Given the description of an element on the screen output the (x, y) to click on. 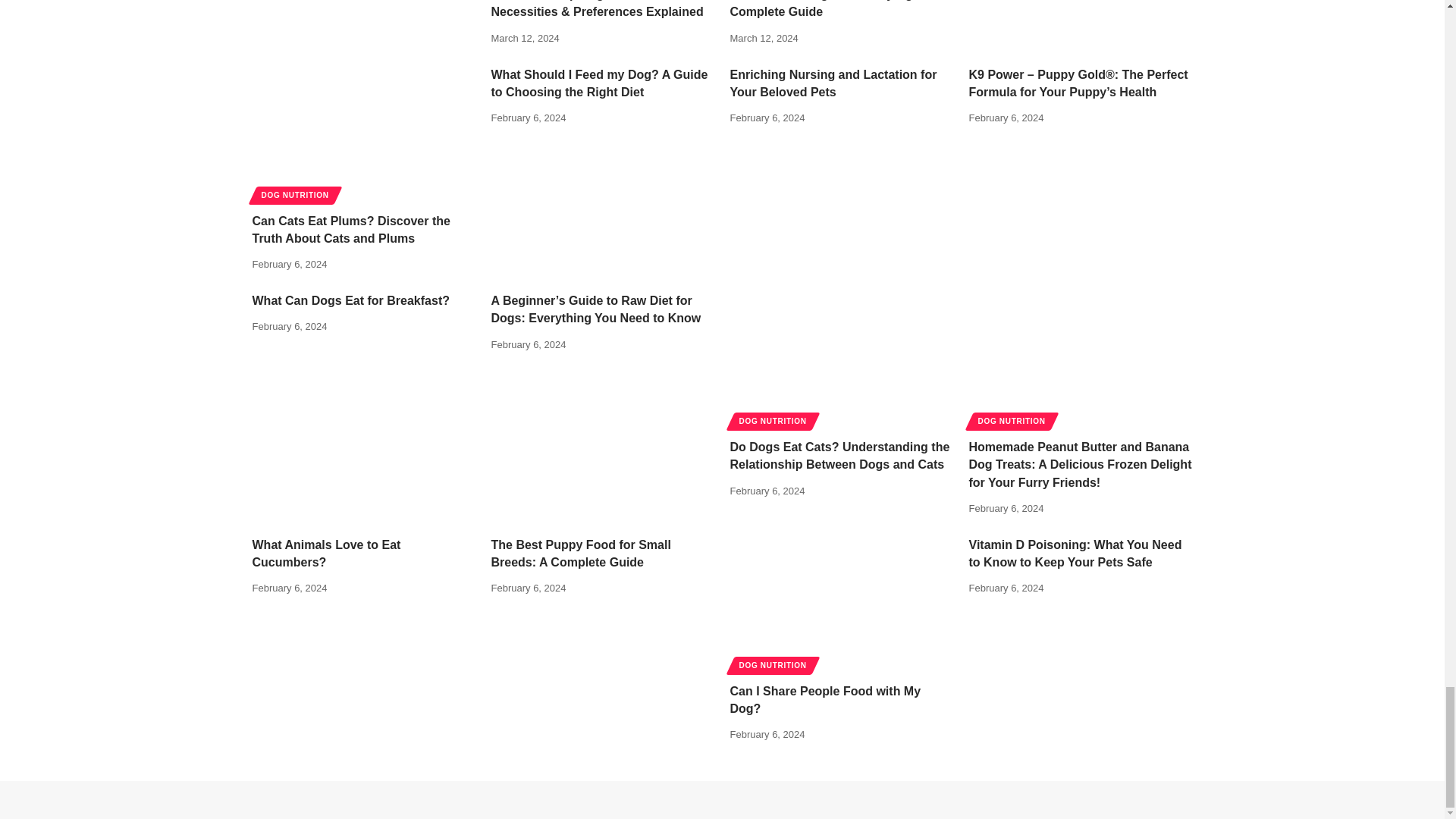
Can I Share People Food with My Dog? (841, 603)
Can Cats Eat Plums? Discover the Truth About Cats and Plums (363, 132)
